Given the description of an element on the screen output the (x, y) to click on. 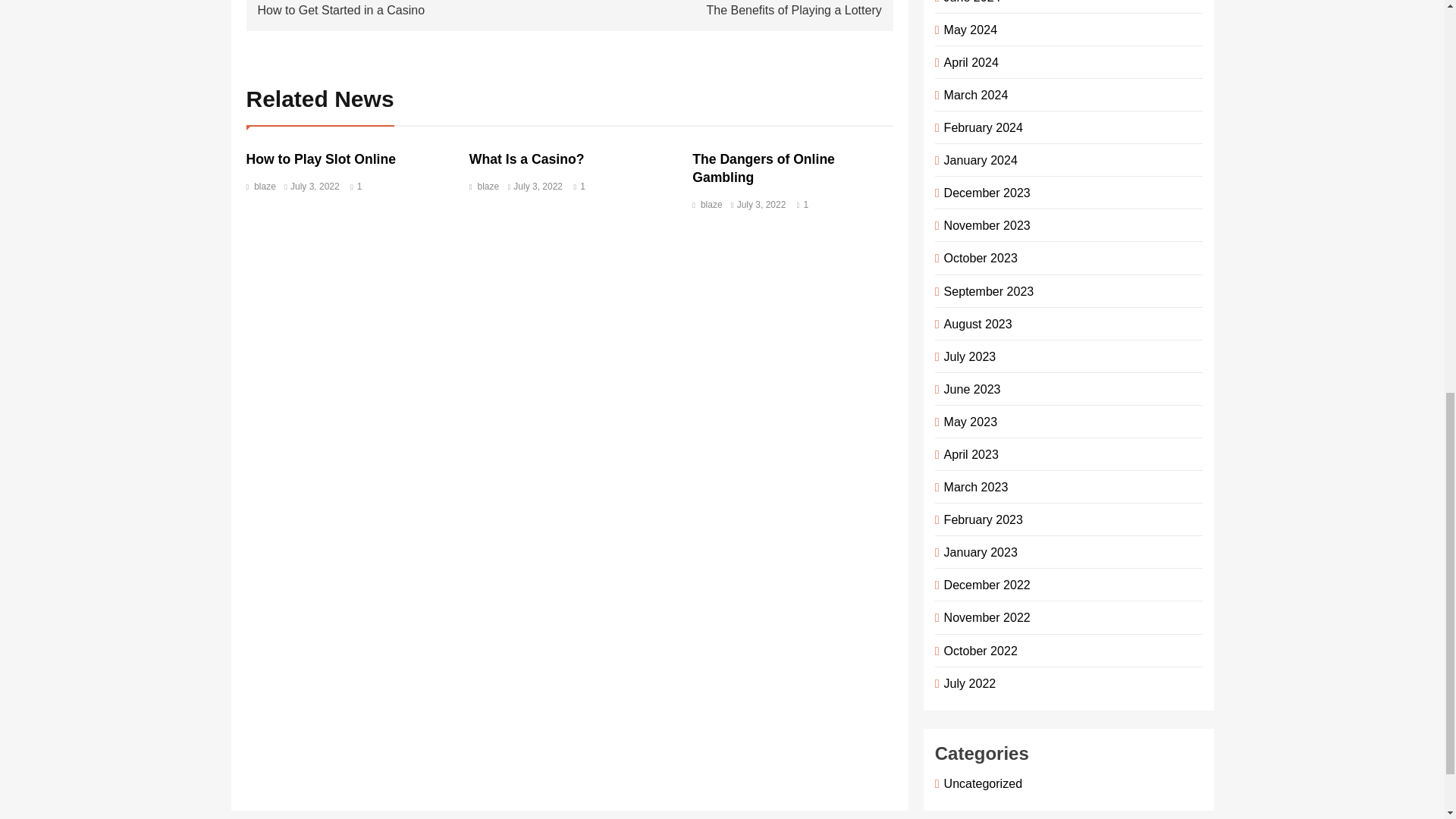
What Is a Casino? (526, 159)
The Dangers of Online Gambling (763, 168)
December 2023 (983, 192)
March 2024 (725, 8)
How to Play Slot Online (972, 94)
January 2024 (320, 159)
April 2024 (413, 8)
June 2024 (978, 160)
